Given the description of an element on the screen output the (x, y) to click on. 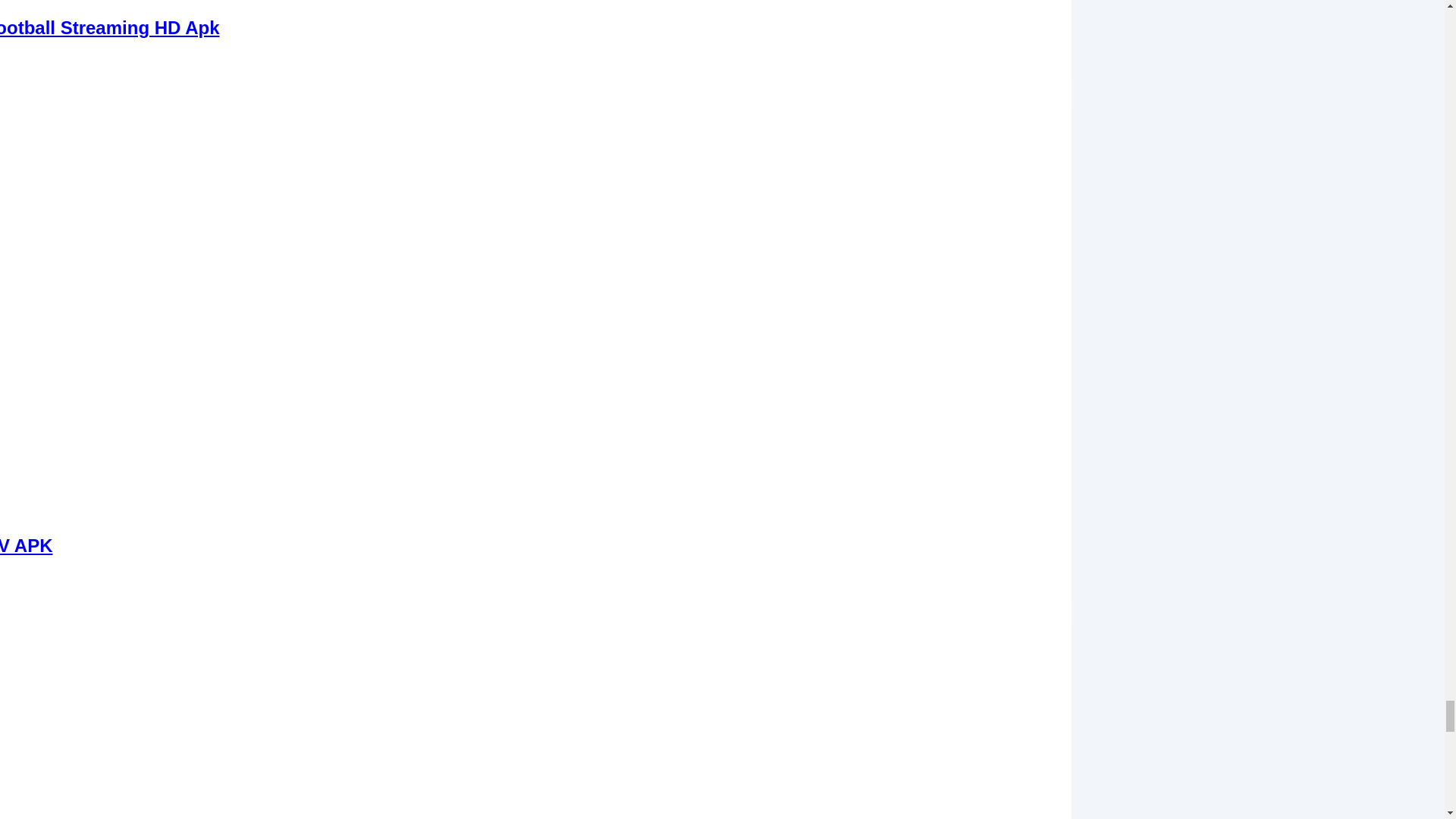
Live Football Streaming HD Apk (109, 26)
Nika TV APK (26, 545)
